Given the description of an element on the screen output the (x, y) to click on. 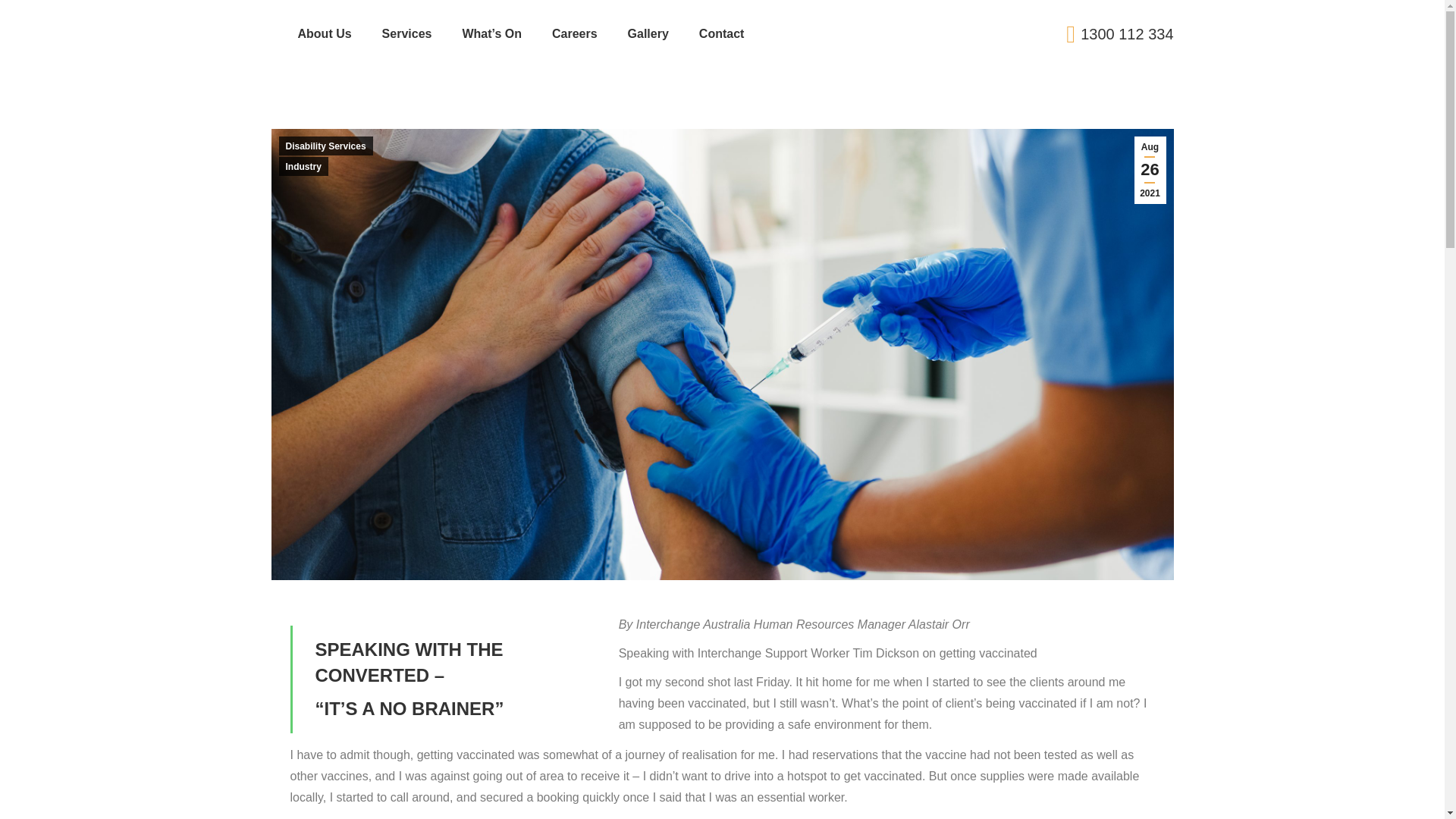
Contact (721, 34)
Careers (573, 34)
4:50 am (1150, 169)
About Us (323, 34)
Services (406, 34)
Gallery (647, 34)
